Given the description of an element on the screen output the (x, y) to click on. 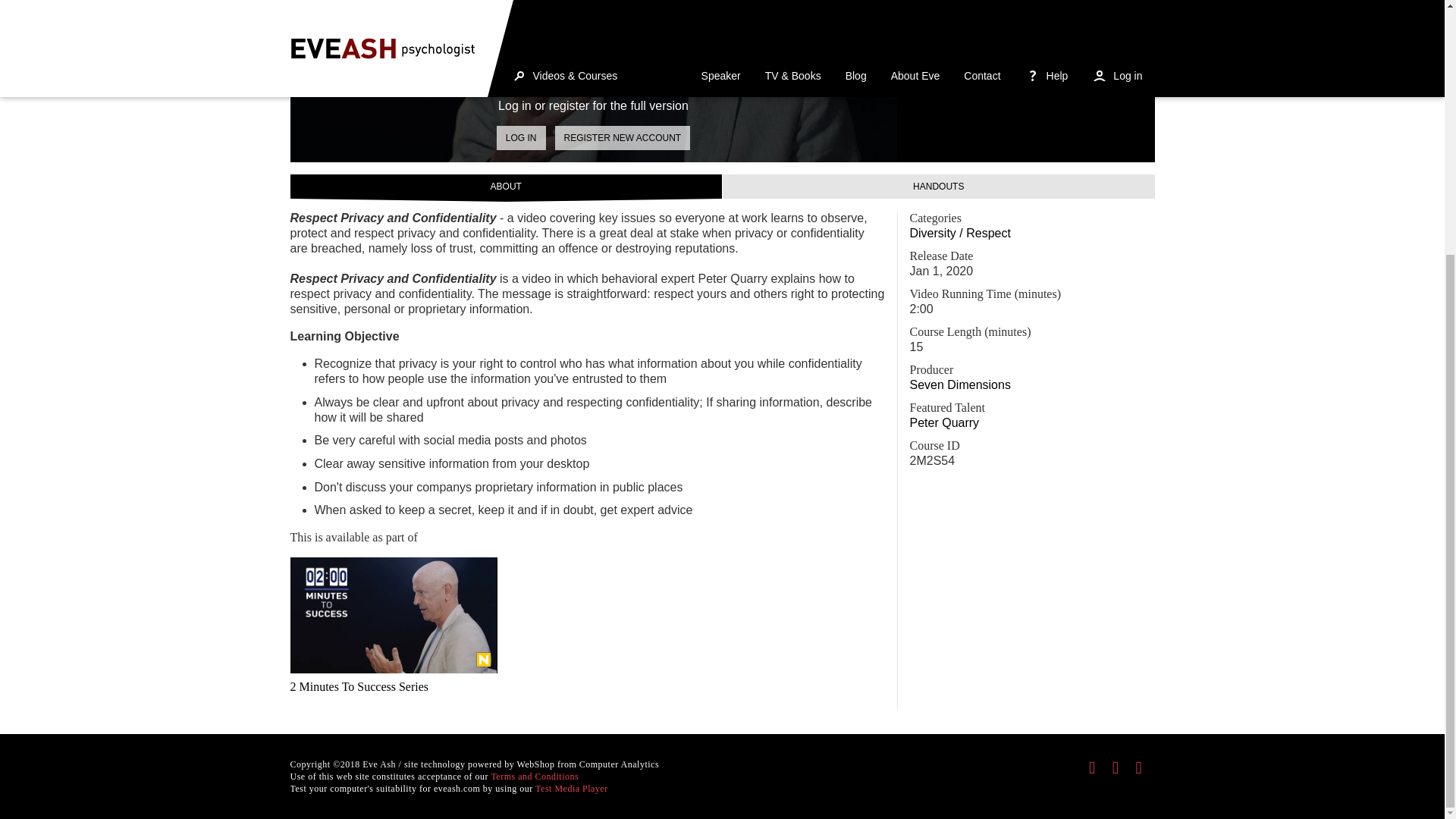
ABOUT (505, 186)
LOG IN (521, 137)
Peter Quarry (944, 422)
HANDOUTS (938, 186)
REGISTER NEW ACCOUNT (622, 137)
Seven Dimensions (960, 384)
2 Minutes To Success Series (392, 633)
New Release (484, 659)
More New Releases (484, 659)
